Given the description of an element on the screen output the (x, y) to click on. 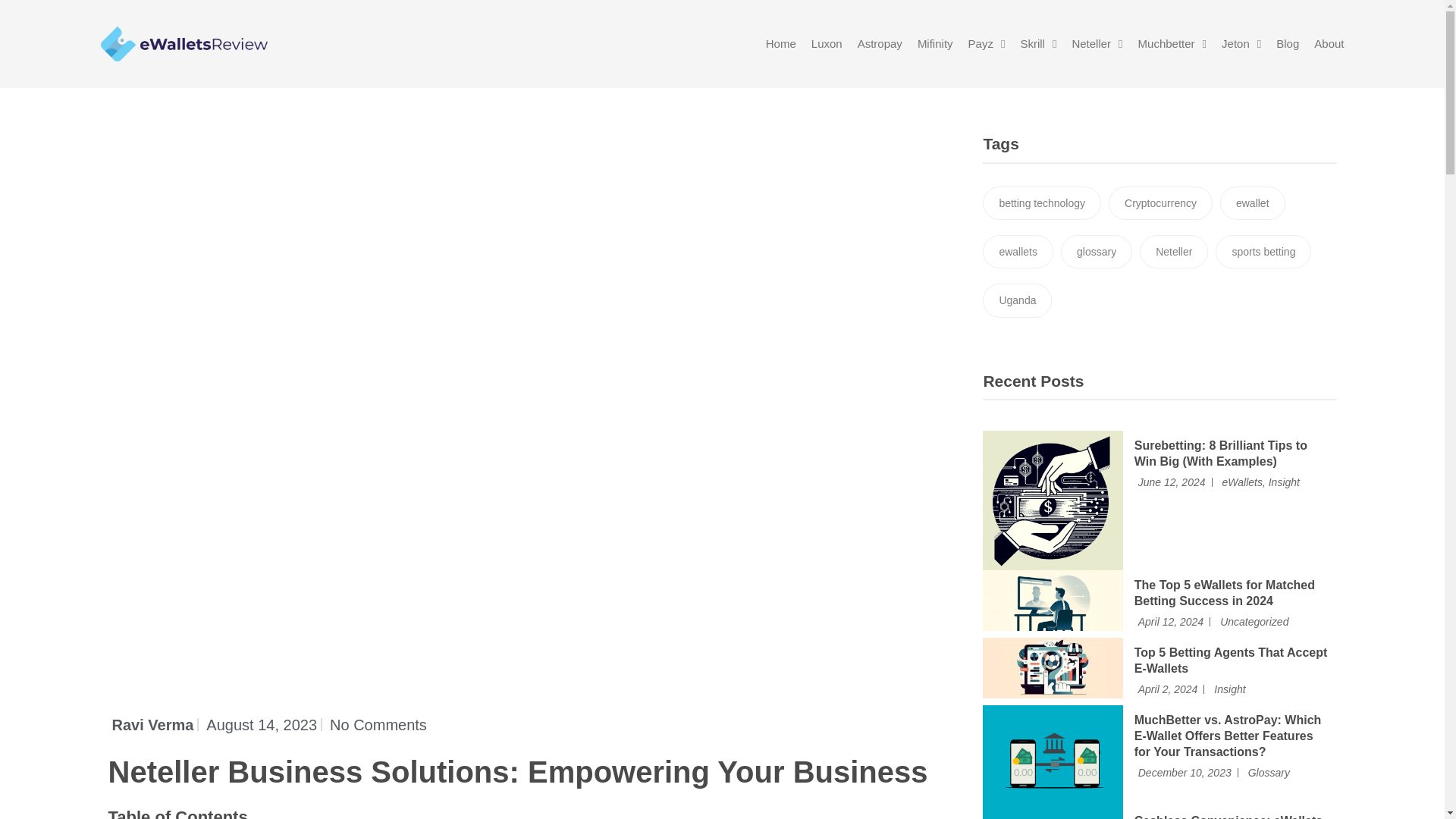
Luxon (826, 43)
Skrill (1038, 43)
Neteller (1096, 43)
Home (780, 43)
Mifinity (935, 43)
Payz (987, 43)
Muchbetter (1172, 43)
Astropay (879, 43)
